Given the description of an element on the screen output the (x, y) to click on. 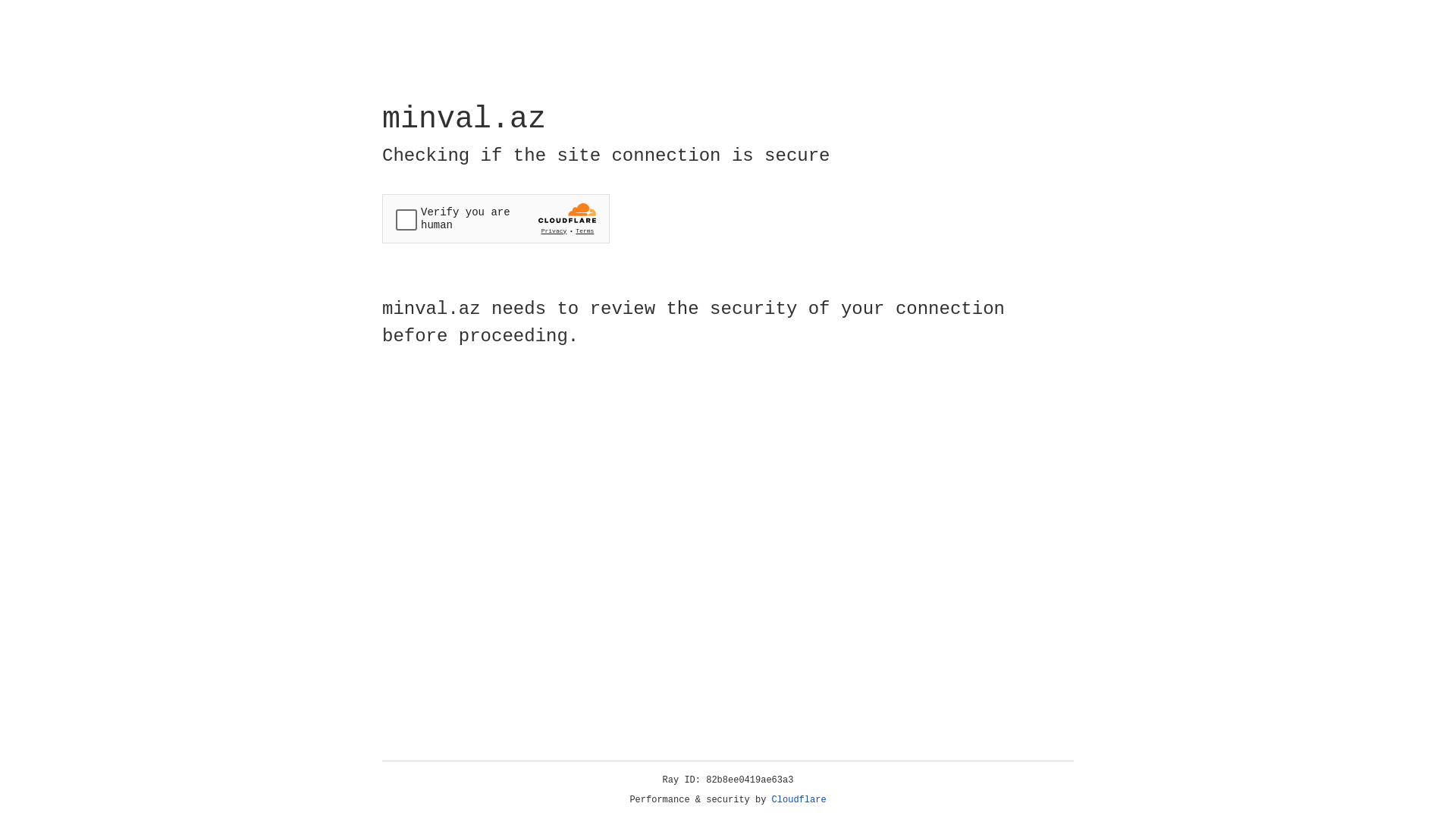
Widget containing a Cloudflare security challenge Element type: hover (495, 218)
Cloudflare Element type: text (798, 799)
